Given the description of an element on the screen output the (x, y) to click on. 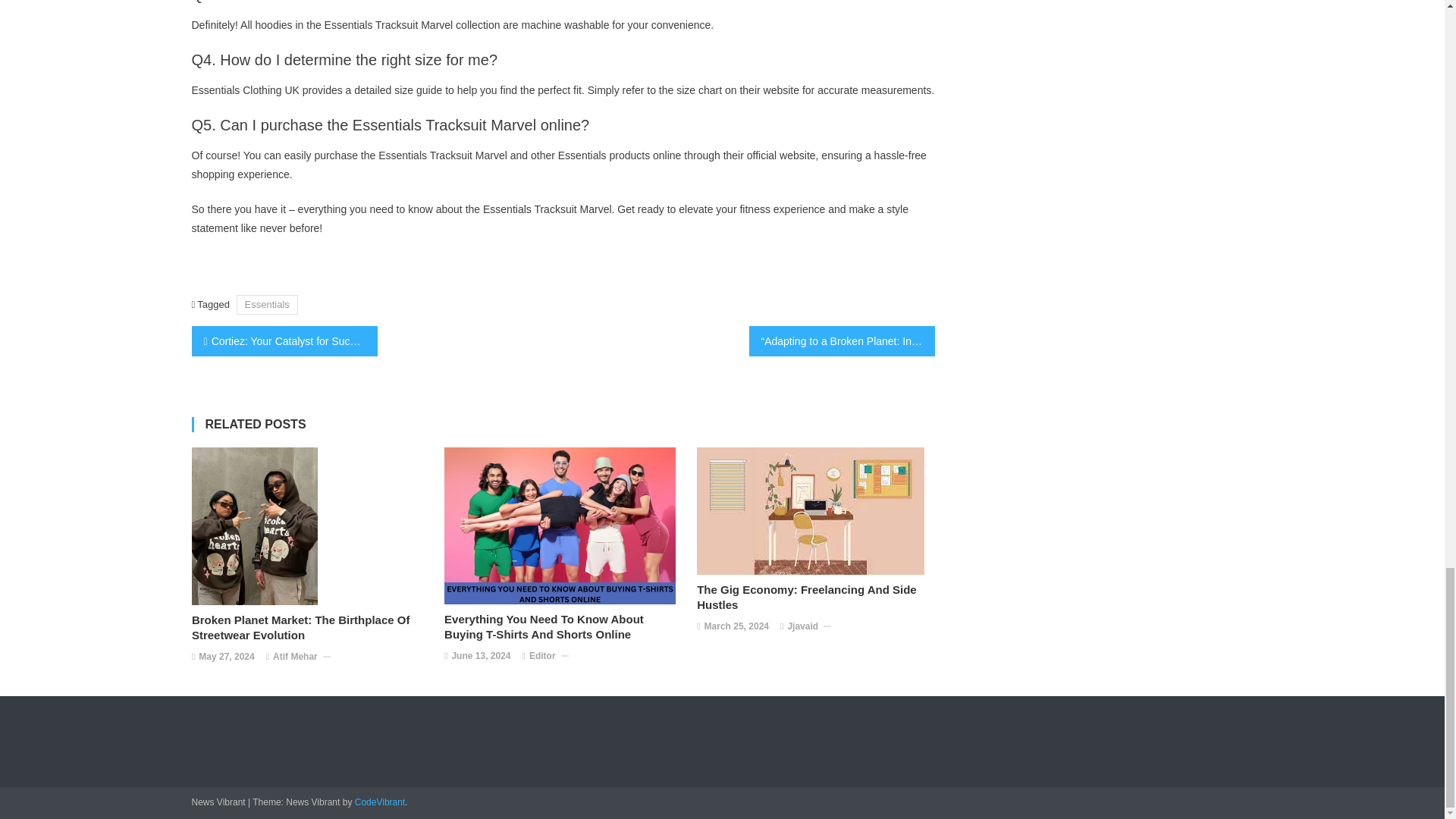
Cortiez: Your Catalyst for Success, Your Partner for Growth (283, 340)
Broken Planet Market: The Birthplace Of Streetwear Evolution (310, 627)
The Gig Economy: Freelancing and Side Hustles 4 (810, 510)
The Gig Economy: Freelancing And Side Hustles (815, 597)
June 13, 2024 (481, 656)
May 27, 2024 (225, 657)
Editor (542, 656)
Atif Mehar (295, 657)
Essentials (266, 303)
